Given the description of an element on the screen output the (x, y) to click on. 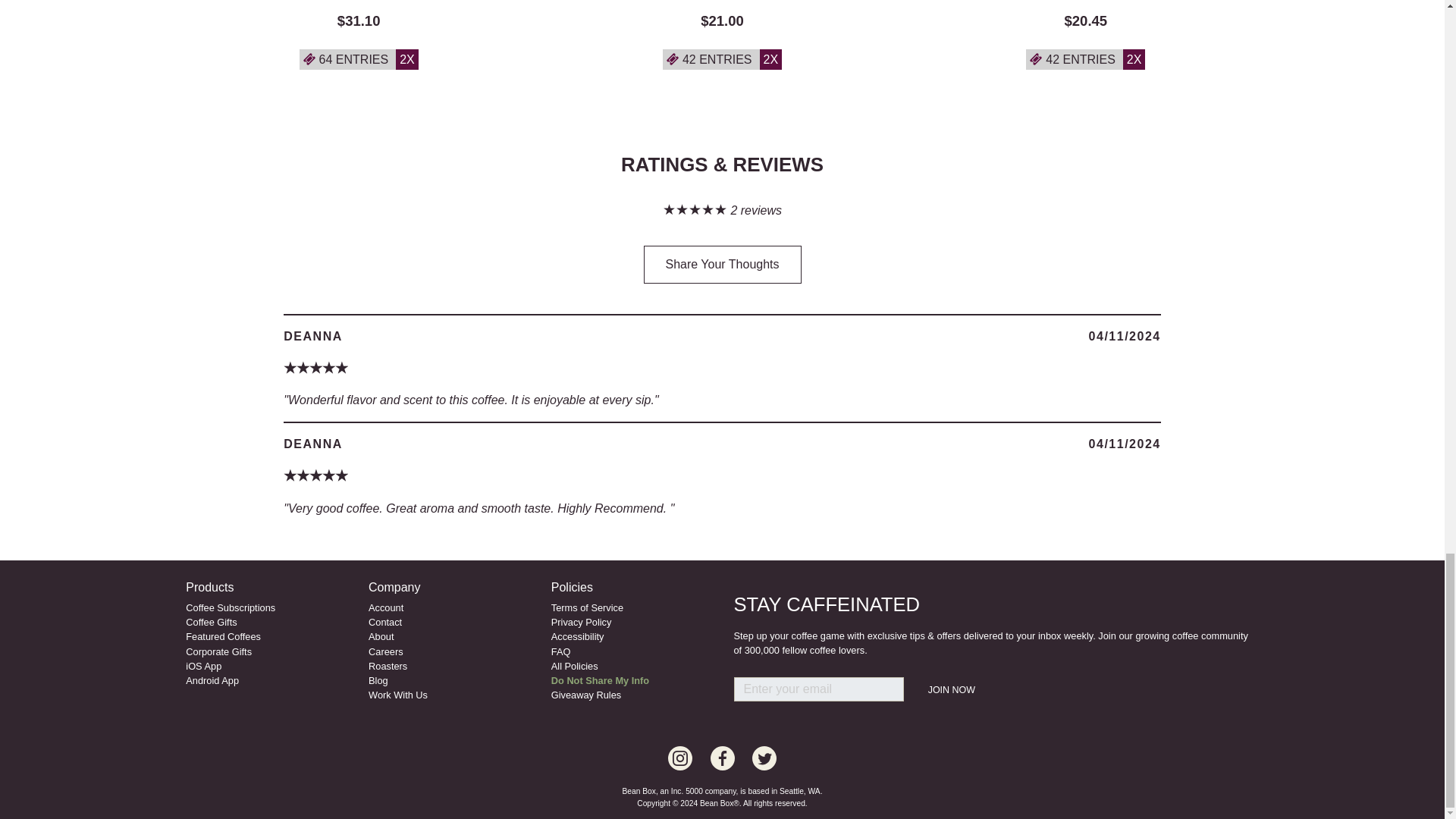
Follow Bean Box on Twitter (764, 758)
Follow Bean Box on Instagram (680, 758)
Follow Bean Box on Instagram (721, 758)
